Given the description of an element on the screen output the (x, y) to click on. 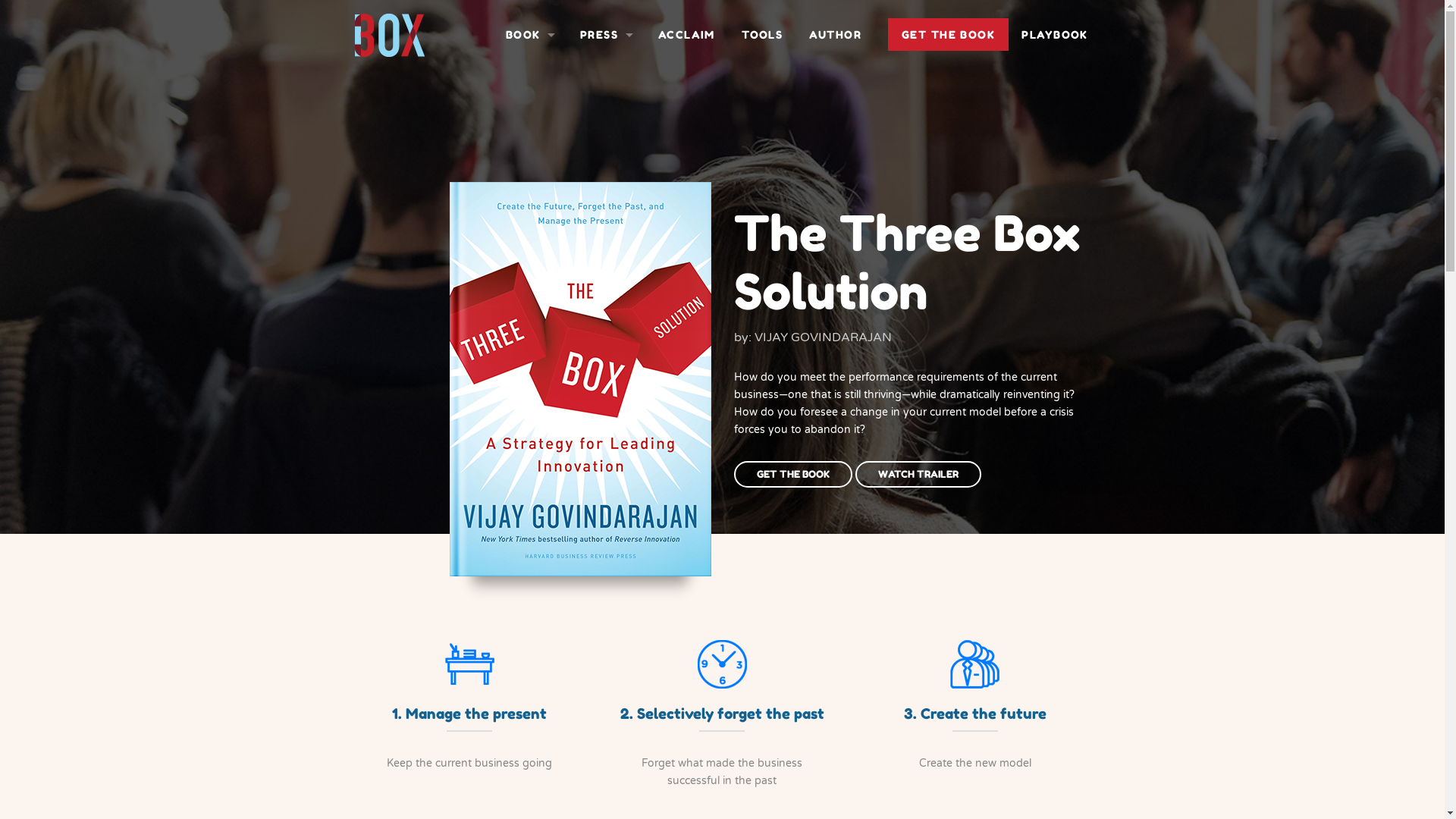
GET THE BOOK Element type: text (947, 34)
LATEST NEWS Element type: text (605, 173)
ARTICLES Element type: text (529, 124)
TOOLS Element type: text (761, 34)
PHOTOS Element type: text (529, 173)
VIDEOS Element type: text (529, 149)
BOOK Element type: text (529, 34)
SYNOPSIS Element type: text (529, 76)
PLAYBOOK Element type: text (1054, 34)
BEST SELLERS Element type: text (605, 149)
ACCLAIM Element type: text (686, 34)
AUTHOR Element type: text (835, 34)
AWARDS Element type: text (605, 124)
PRESS Element type: text (605, 76)
RELATED BOOKS Element type: text (529, 100)
REVIEWS Element type: text (605, 100)
GET THE BOOK Element type: text (793, 474)
PRESS Element type: text (605, 34)
WATCH TRAILER Element type: text (918, 474)
